Given the description of an element on the screen output the (x, y) to click on. 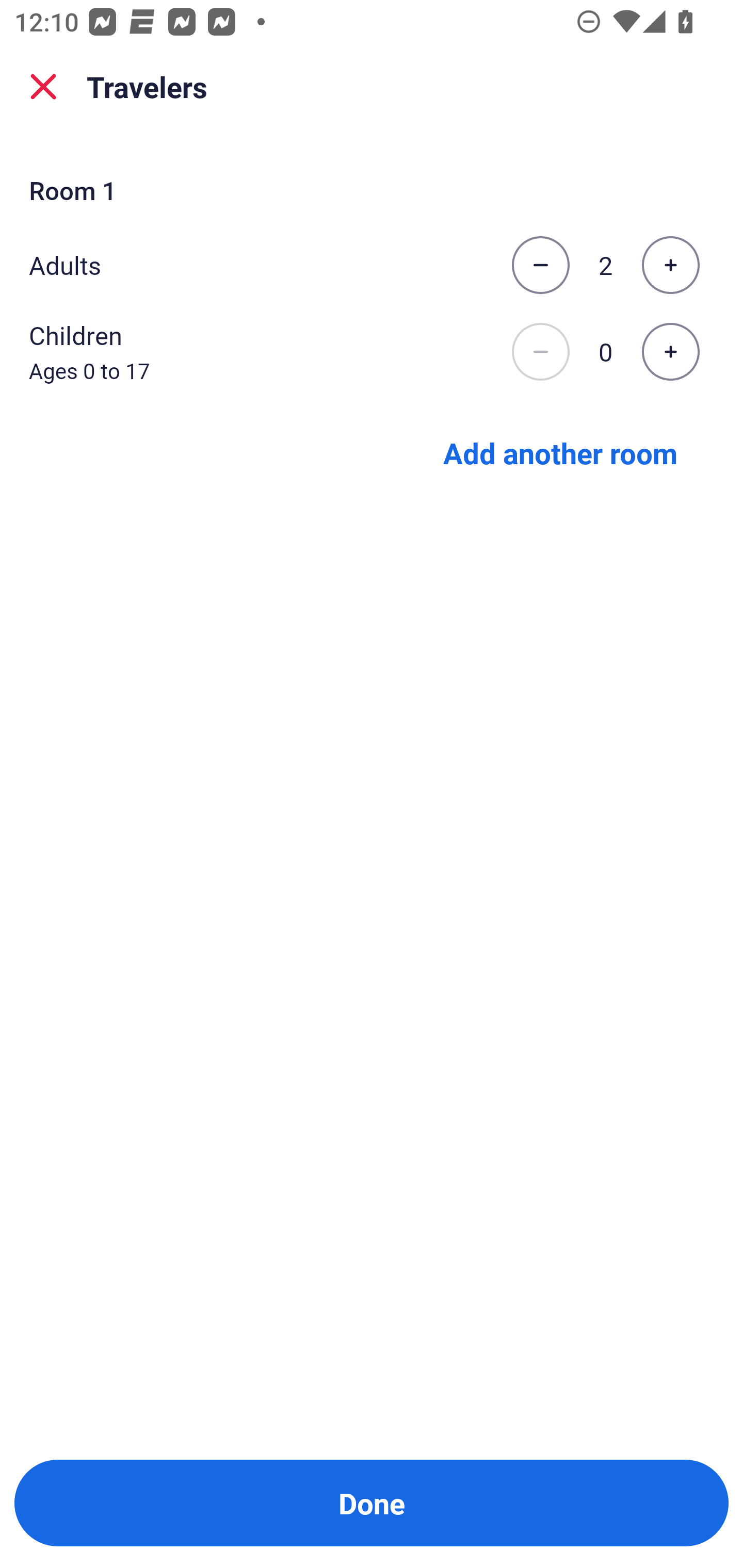
close (43, 86)
Decrease the number of adults (540, 264)
Increase the number of adults (670, 264)
Decrease the number of children (540, 351)
Increase the number of children (670, 351)
Add another room (560, 452)
Done (371, 1502)
